Given the description of an element on the screen output the (x, y) to click on. 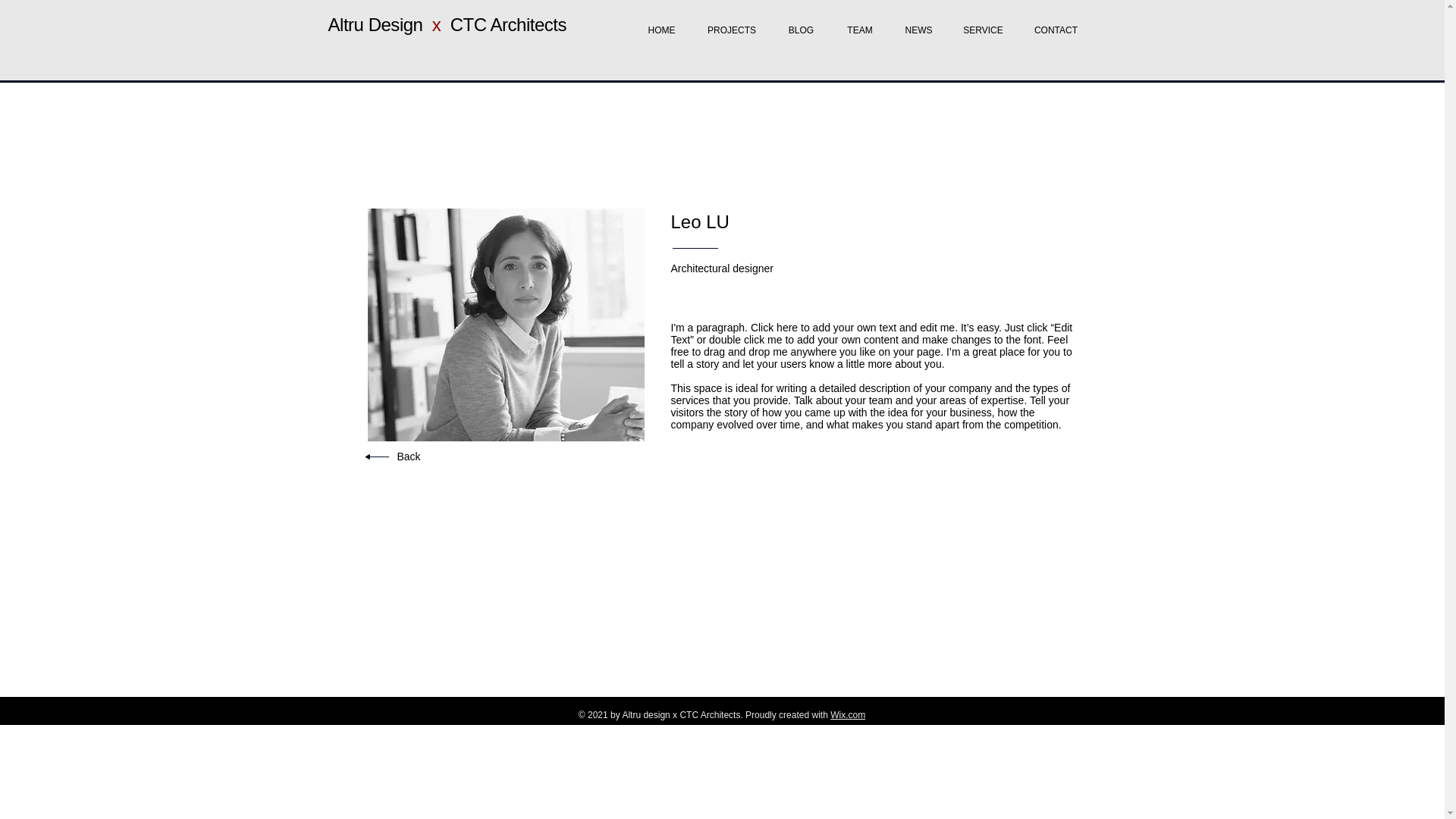
SERVICE (982, 23)
BLOG (801, 23)
CONTACT (1055, 23)
PROJECTS (731, 23)
TEAM (860, 23)
Wix.com (846, 715)
Altru Design  x  CTC Architects   (451, 24)
Back (408, 456)
HOME (660, 23)
NEWS (917, 23)
